Given the description of an element on the screen output the (x, y) to click on. 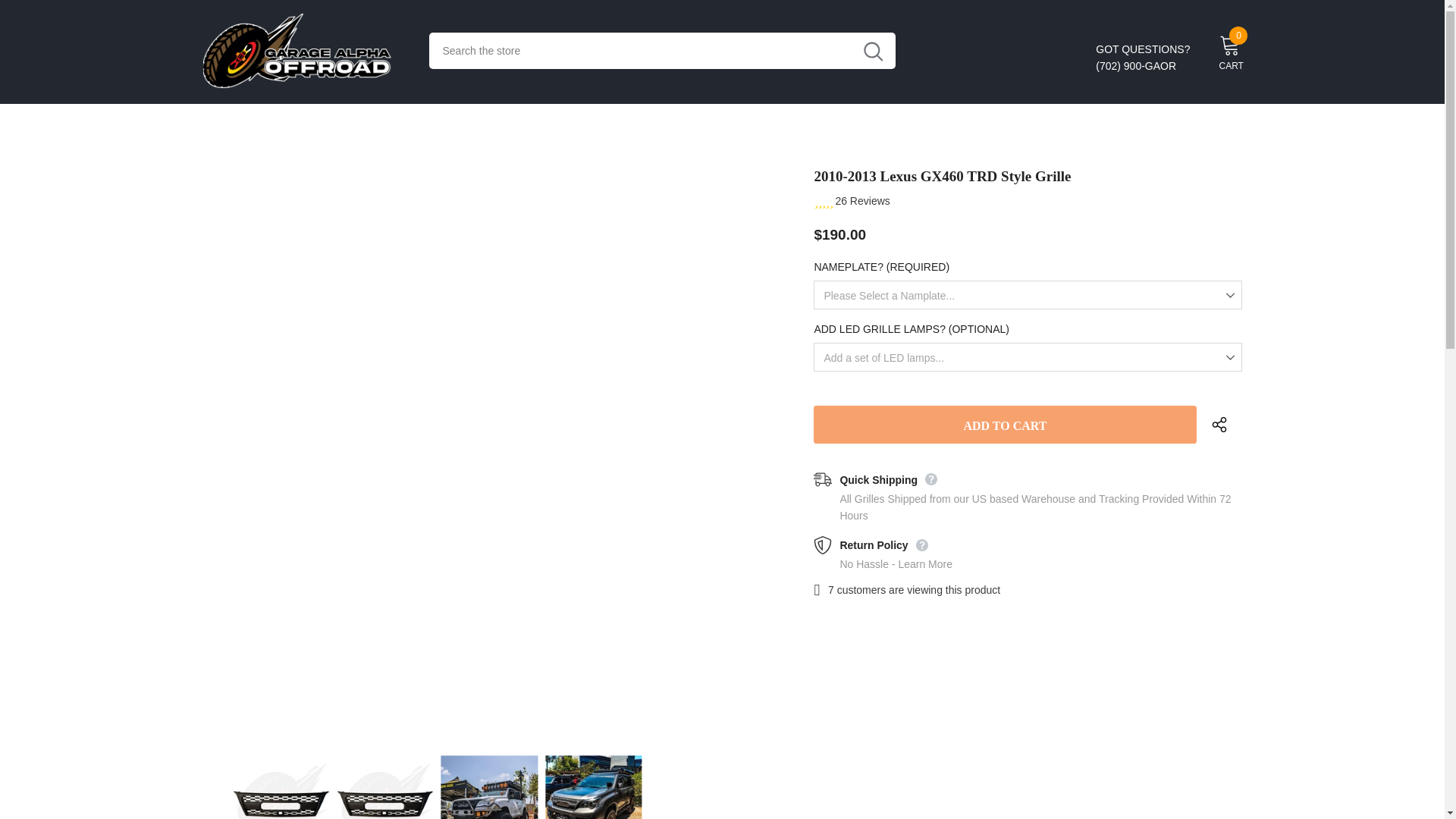
Add to cart (1004, 424)
Add to cart (1004, 424)
Logo (304, 50)
